Given the description of an element on the screen output the (x, y) to click on. 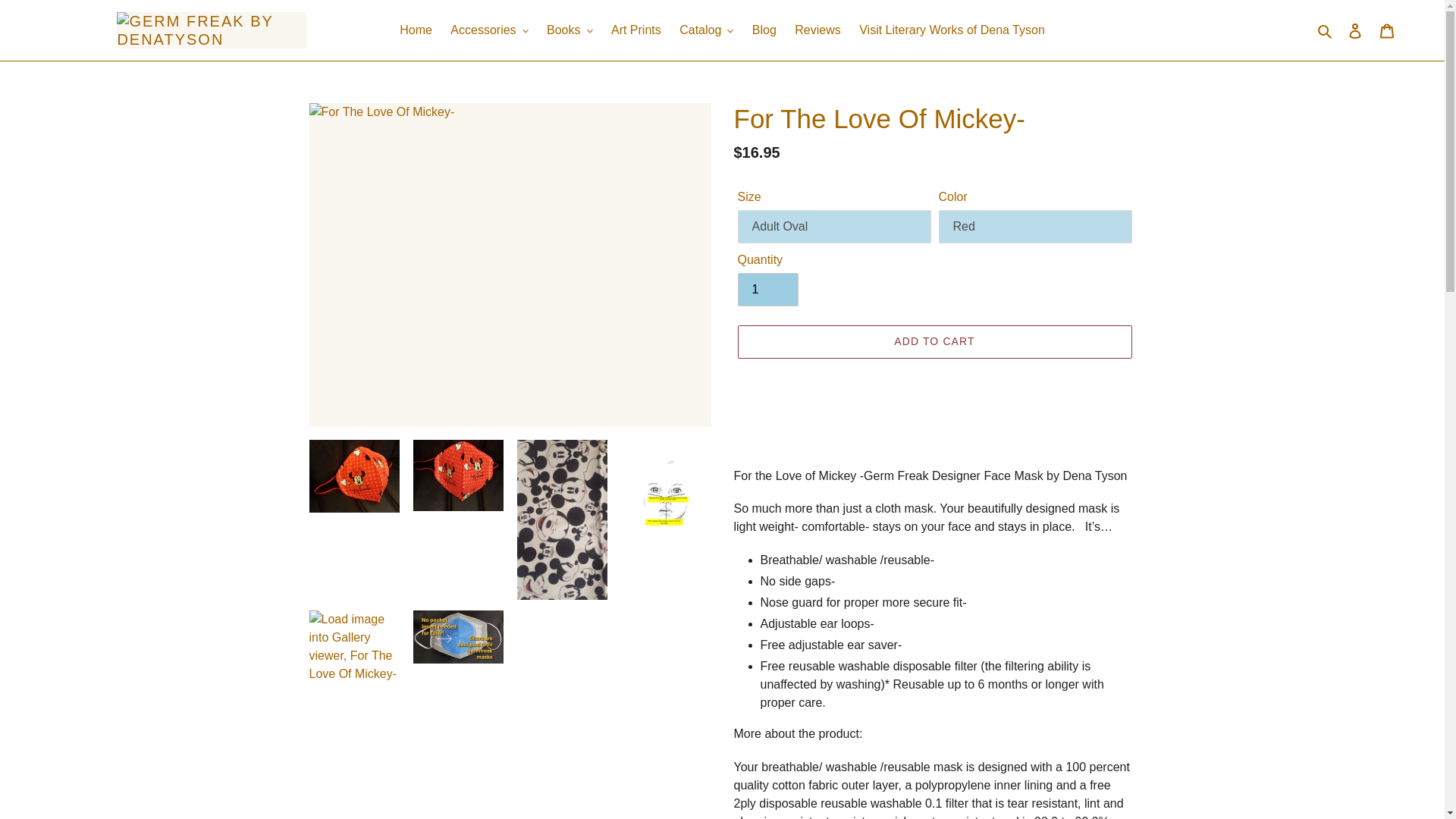
1 (766, 289)
Cart (1387, 29)
Reviews (817, 29)
Log in (1355, 29)
Books (568, 29)
Art Prints (636, 29)
Search (1326, 30)
Accessories (488, 29)
Visit Literary Works of Dena Tyson (951, 29)
Catalog (706, 29)
Blog (764, 29)
Home (415, 29)
